Given the description of an element on the screen output the (x, y) to click on. 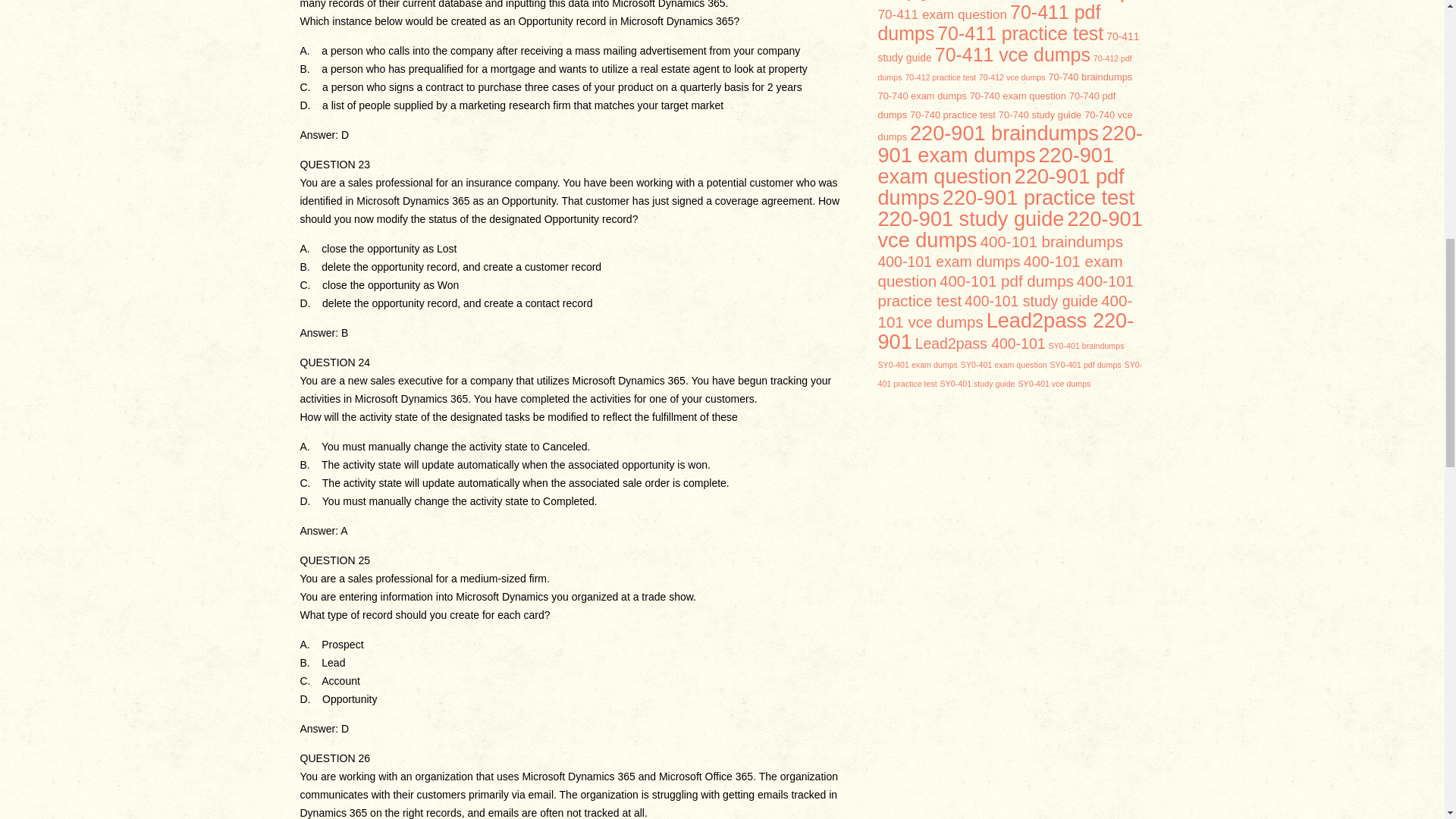
70-411 vce dumps (1012, 54)
70-412 pdf dumps (1004, 67)
70-411 study guide (1008, 46)
70-411 practice test (1020, 33)
70-411 exam question (942, 14)
70-411 pdf dumps (988, 22)
70-410 vce dumps (1050, 1)
